Given the description of an element on the screen output the (x, y) to click on. 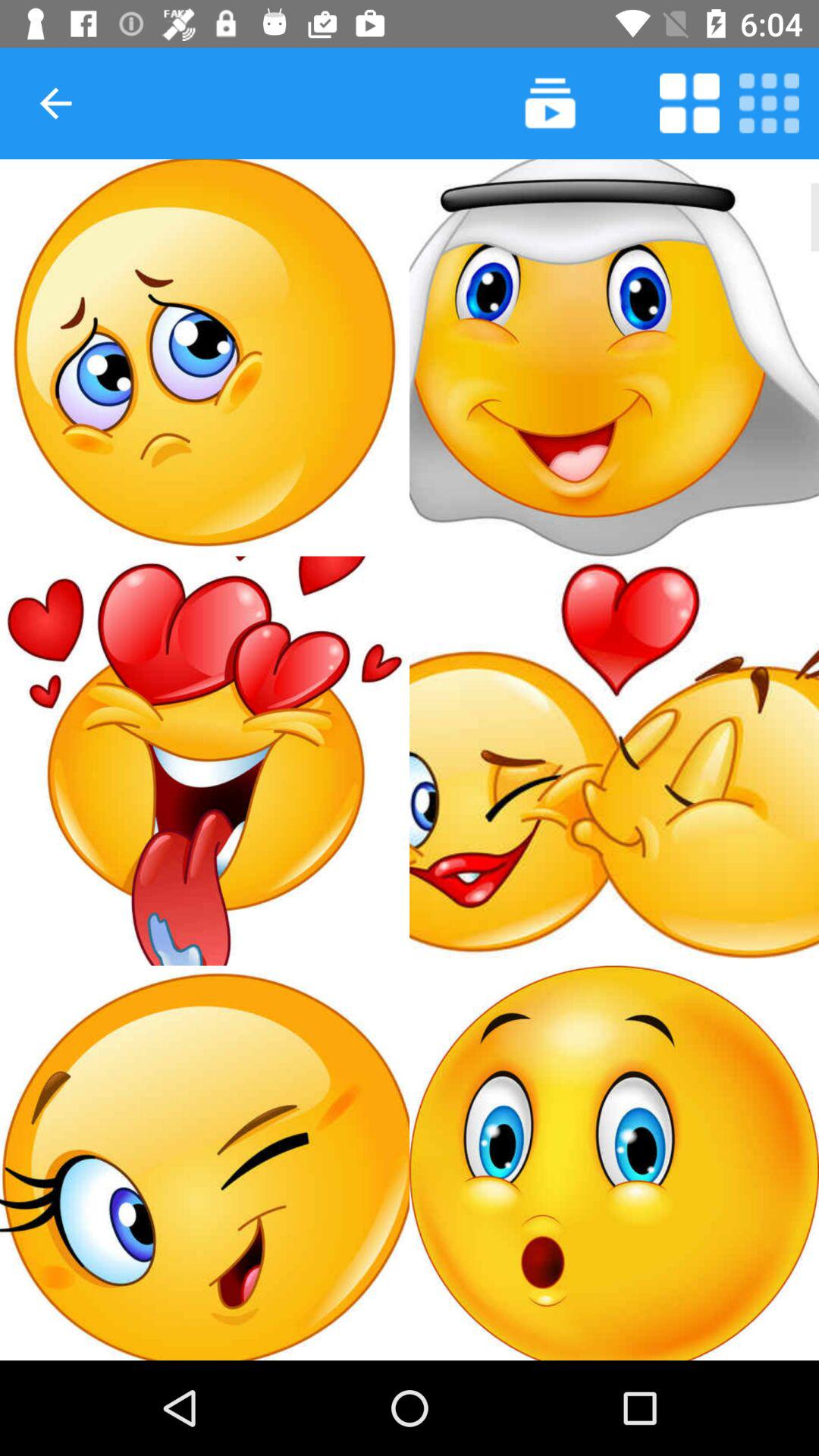
in love (204, 760)
